Given the description of an element on the screen output the (x, y) to click on. 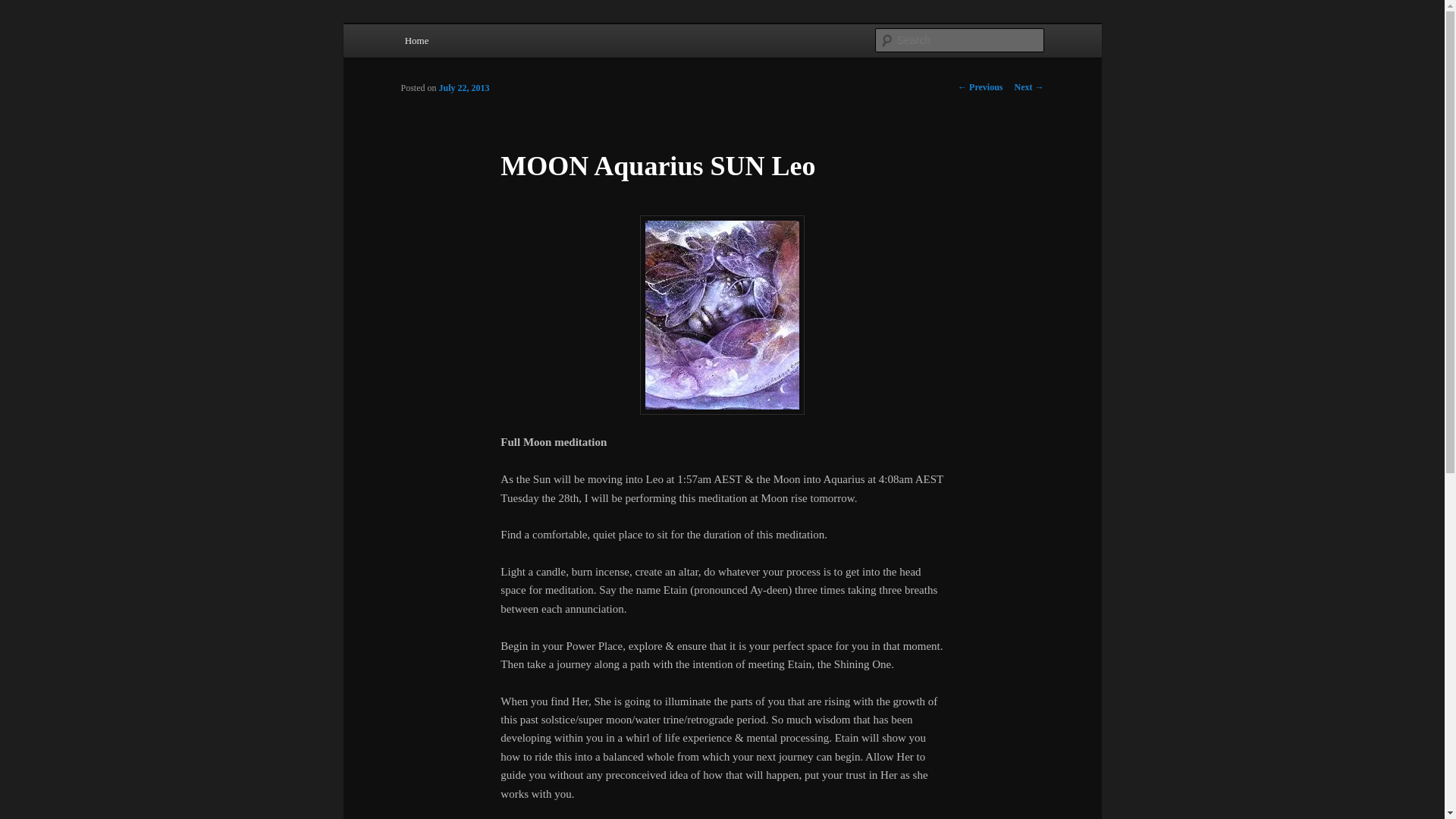
Home (417, 40)
July 22, 2013 (464, 87)
Search (24, 8)
08:50 (464, 87)
The Hedgewitchery (495, 78)
